Given the description of an element on the screen output the (x, y) to click on. 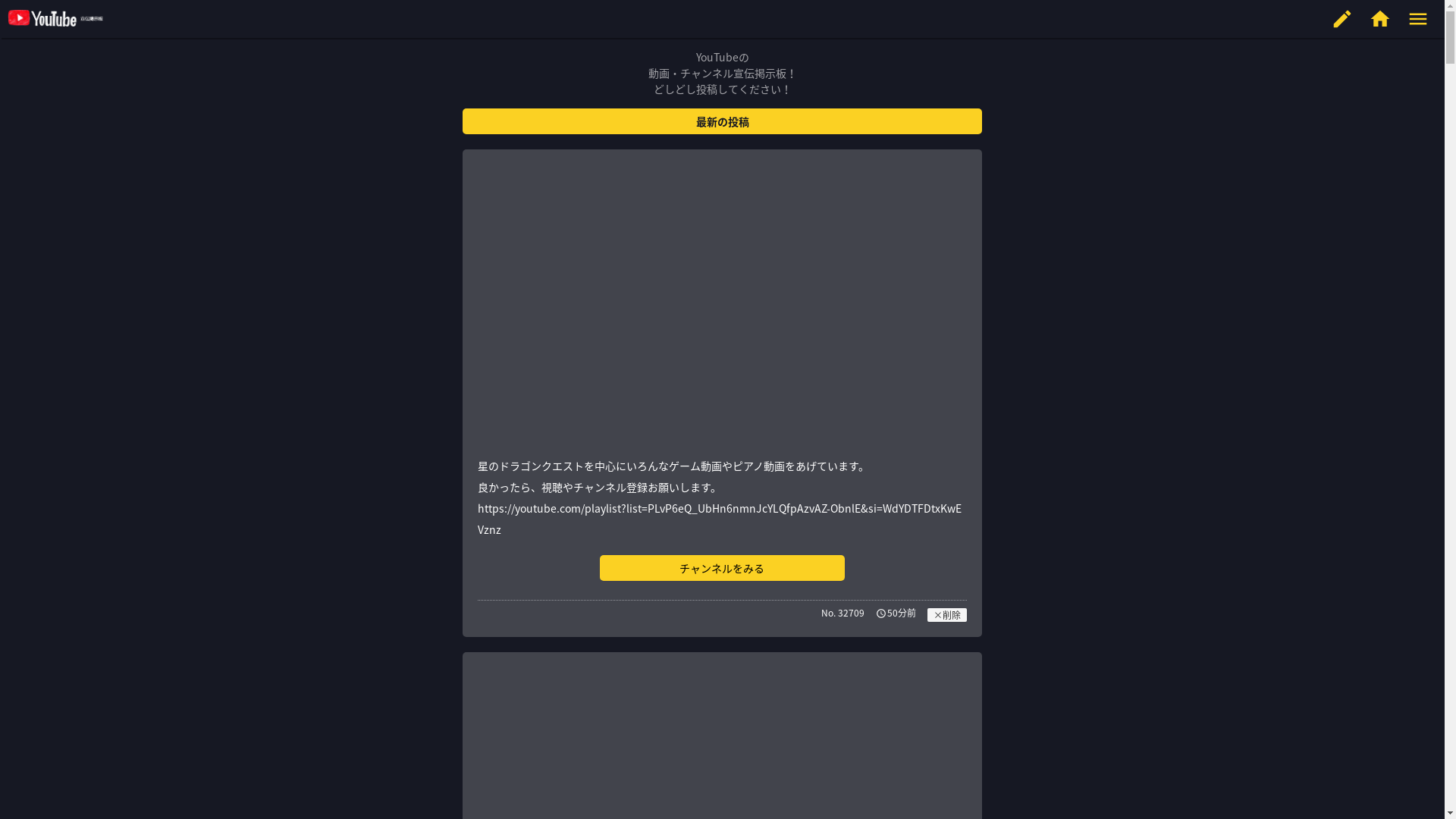
create Element type: text (1341, 18)
home Element type: text (1379, 18)
